Given the description of an element on the screen output the (x, y) to click on. 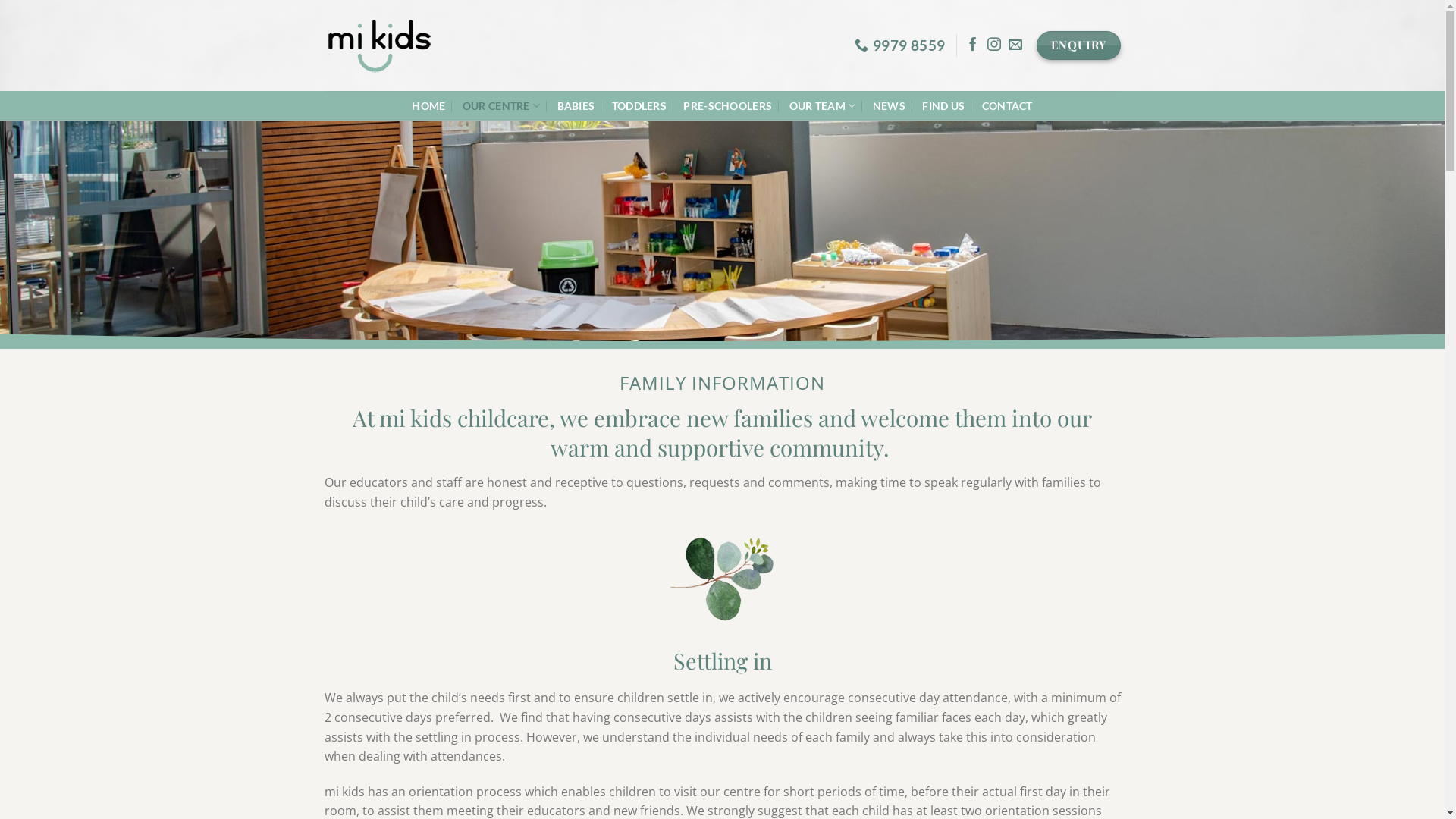
9979 8559 Element type: text (899, 45)
BABIES Element type: text (576, 105)
Follow on Facebook Element type: hover (972, 45)
FIND US Element type: text (943, 105)
TODDLERS Element type: text (638, 105)
Follow on Instagram Element type: hover (994, 45)
PRE-SCHOOLERS Element type: text (727, 105)
OUR TEAM Element type: text (822, 105)
OUR CENTRE Element type: text (500, 105)
NEWS Element type: text (888, 105)
HOME Element type: text (428, 105)
Send us an email Element type: hover (1015, 45)
ENQUIRY Element type: text (1078, 45)
CONTACT Element type: text (1007, 105)
